Given the description of an element on the screen output the (x, y) to click on. 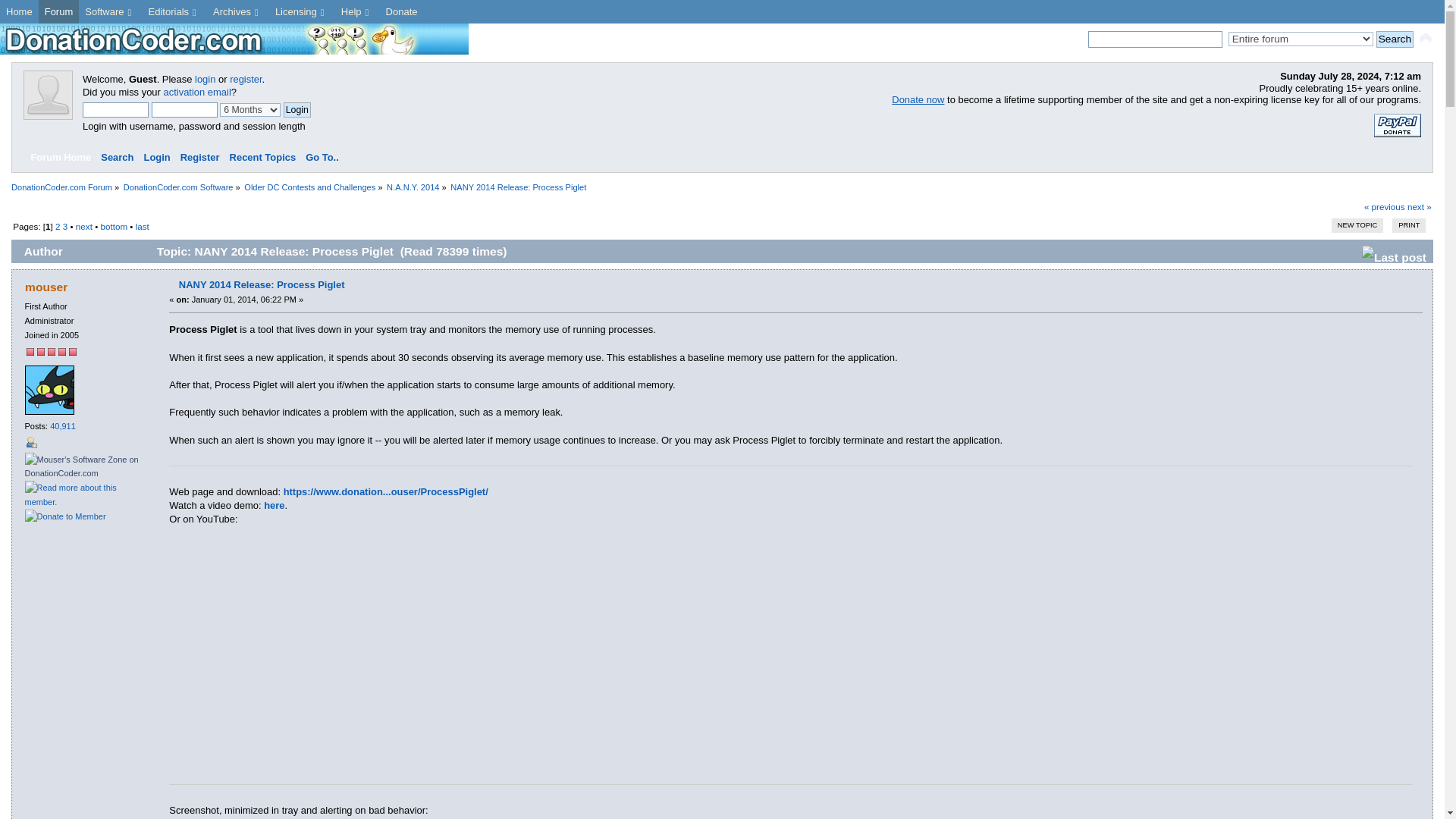
Shrink or expand the header. (1425, 38)
Archives (237, 11)
Home (19, 11)
Last post (1393, 254)
Donate to Member (65, 516)
Editorials (174, 11)
Login (297, 109)
View Profile (30, 441)
Search (1394, 39)
Forum (59, 11)
Software (109, 11)
Read more about this member. (83, 494)
View the profile of mouser (45, 286)
click to register on the forum (47, 116)
